Given the description of an element on the screen output the (x, y) to click on. 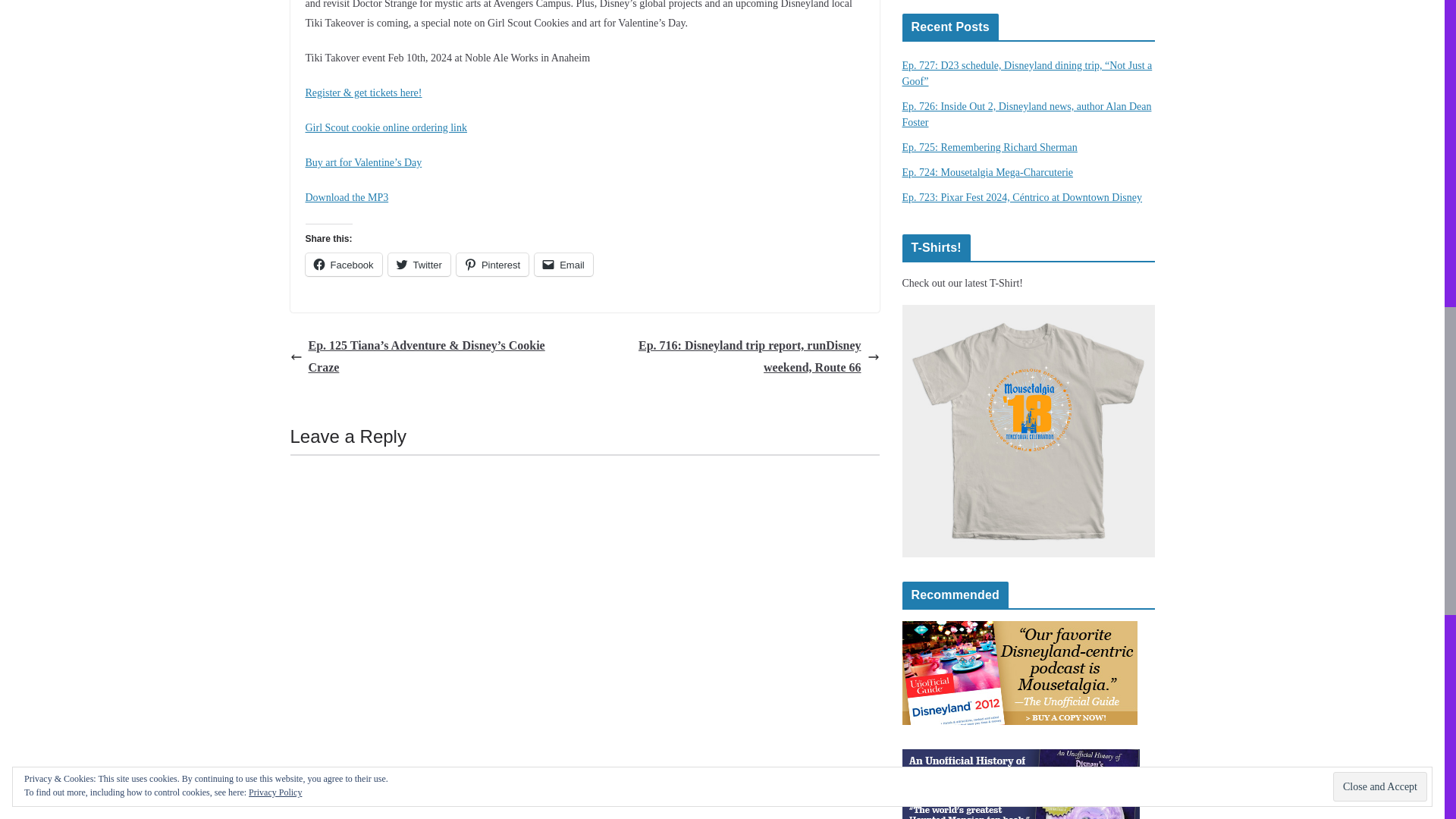
Click to share on Facebook (342, 264)
Click to share on Twitter (418, 264)
Click to share on Pinterest (492, 264)
Click to email a link to a friend (563, 264)
Girl Scout cookie online ordering link (384, 127)
